Given the description of an element on the screen output the (x, y) to click on. 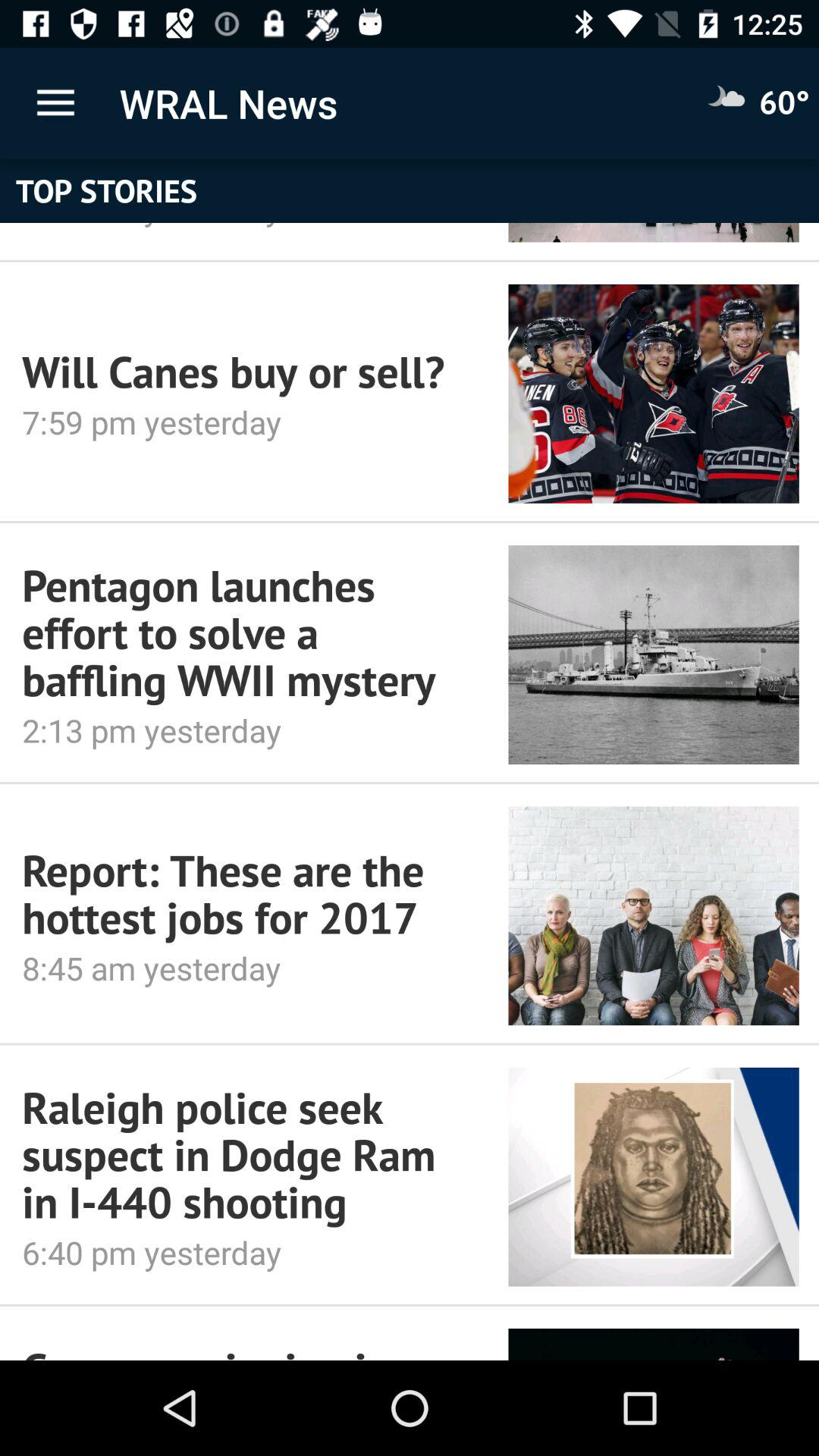
swipe until the 8 45 am (244, 967)
